Given the description of an element on the screen output the (x, y) to click on. 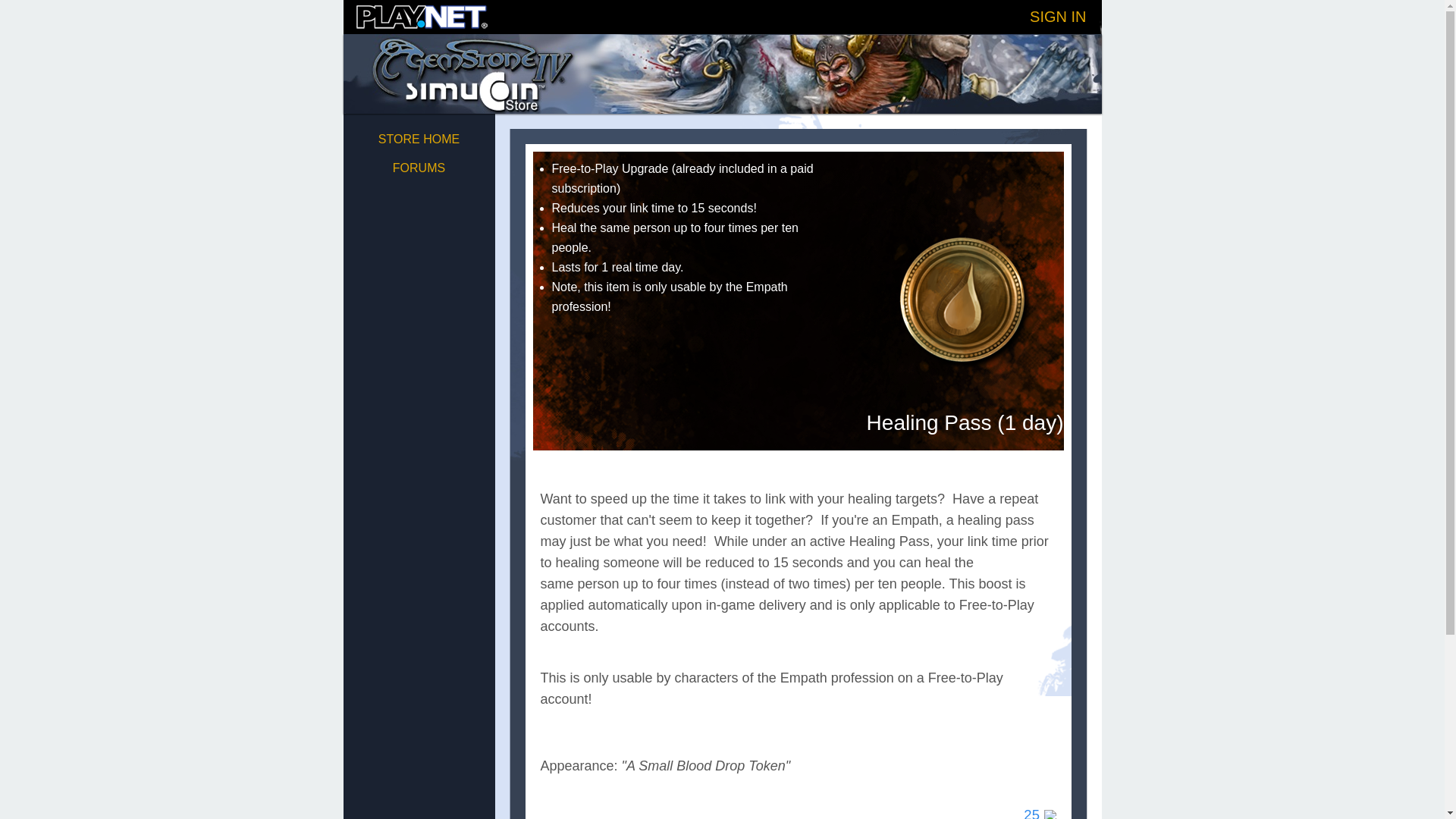
SIGN IN (1057, 16)
FORUMS (419, 167)
STORE HOME (419, 138)
